Given the description of an element on the screen output the (x, y) to click on. 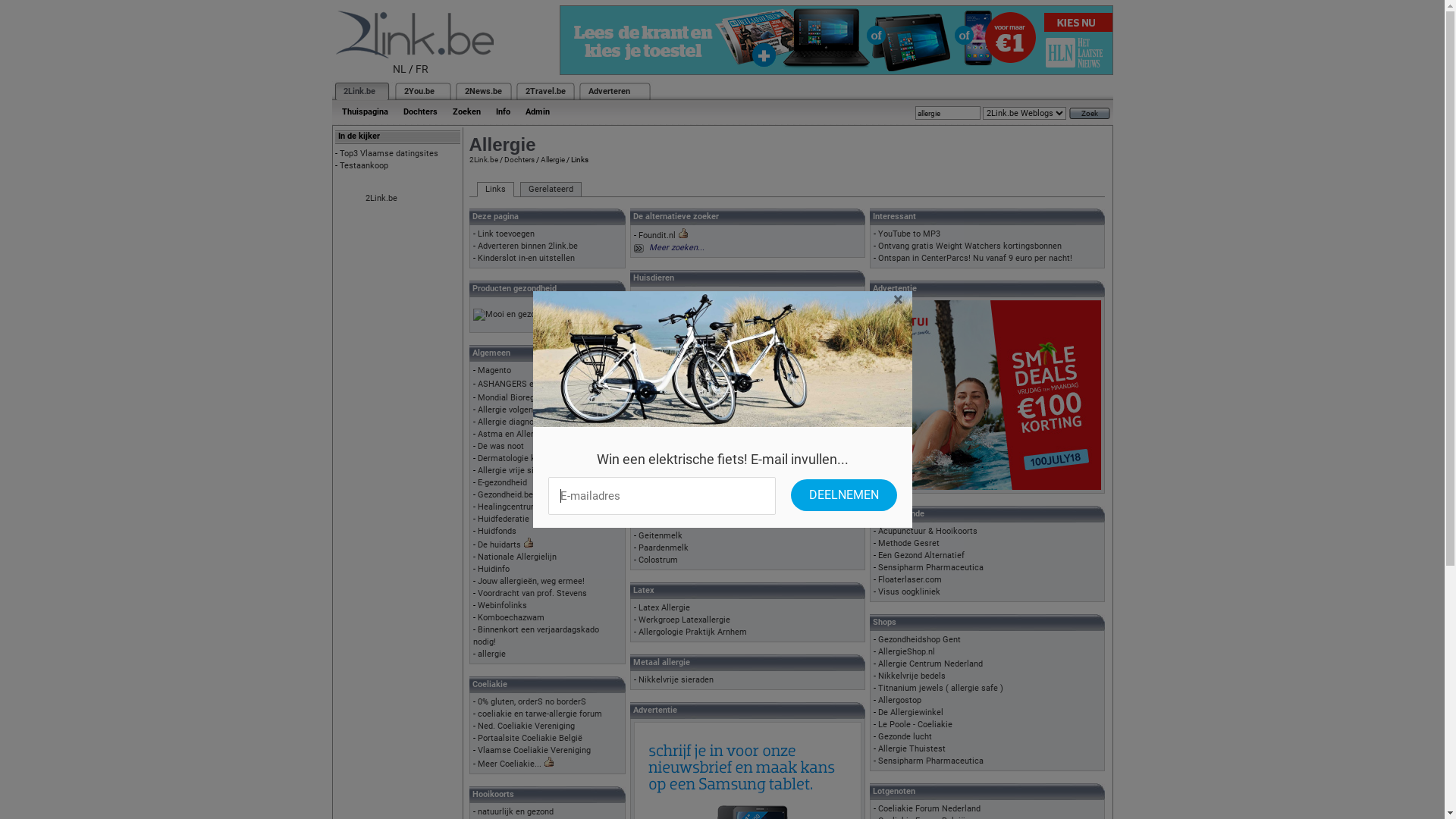
Huisstofmijt Element type: text (662, 379)
Bestrijding ongedierte Element type: text (679, 427)
Allergie Centrum Nederland Element type: text (930, 663)
Acupunctuur & Hooikoorts Element type: text (927, 531)
Allergie Element type: text (551, 159)
Huidfederatie Element type: text (503, 519)
FR Element type: text (421, 68)
Admin Element type: text (536, 111)
2Link.be Element type: text (482, 159)
2News.be Element type: text (482, 91)
Binnenkort een verjaardagskado nodig! Element type: text (536, 635)
Voordracht van prof. Stevens Element type: text (531, 593)
Sensipharm Pharmaceutica Element type: text (930, 760)
Allergologie Praktijk Arnhem Element type: text (692, 632)
Allergostop Element type: text (899, 700)
Nikkelvrije bedels Element type: text (911, 675)
Colostrum Element type: text (657, 559)
E-gezondheid Element type: text (502, 482)
Huisdierendokter Element type: text (670, 295)
De was noot Element type: text (500, 446)
Floaterlaser.com Element type: text (909, 579)
Methode Gesret Element type: text (908, 543)
Gezondheidshop Gent Element type: text (919, 639)
Zoeken Element type: text (465, 111)
Geitenmelk Element type: text (660, 535)
Latex Allergie Element type: text (664, 607)
Testaankoop Element type: text (363, 165)
Adverteren Element type: text (609, 91)
Meer Coeliakie... Element type: text (509, 763)
2You.be Element type: text (418, 91)
Allergie Thuistest Element type: text (911, 748)
Info Element type: text (502, 111)
Ontspan in CenterParcs! Nu vanaf 9 euro per nacht! Element type: text (975, 258)
Dochters Element type: text (518, 159)
2Link.be Element type: text (358, 91)
Nikkelvrije sieraden Element type: text (675, 679)
Nikkelvrije Zilveren hondjes Element type: text (690, 307)
Webinfolinks Element type: text (502, 605)
Meer zoeken... Element type: text (676, 247)
Gerelateerd Element type: text (550, 189)
De huidarts Element type: text (498, 544)
Ned. Coeliakie Vereniging Element type: text (525, 726)
0% gluten, orderS no borderS Element type: text (531, 701)
Dr. Patrick Sweetlove Element type: text (678, 367)
Komboechazwam Element type: text (510, 617)
Paardenmelk Element type: text (663, 547)
Werkgroep Latexallergie Element type: text (684, 619)
Vlaamse Coeliakie Vereniging Element type: text (533, 750)
Magento Element type: text (494, 370)
Gezondheid.be Element type: text (505, 494)
2Travel.be Element type: text (544, 91)
YouTube to MP3 Element type: text (909, 233)
De Allergiewinkel Element type: text (910, 712)
Le Poole - Coeliakie Element type: text (915, 724)
AllergieShop.nl Element type: text (906, 651)
Top3 Vlaamse datingsites Element type: text (388, 153)
Link toevoegen Element type: text (505, 233)
Allergie diagnostiek Element type: text (514, 421)
Een Gezond Alternatief Element type: text (921, 555)
Kinderslot in-en uitstellen Element type: text (525, 258)
Visus oogkliniek Element type: text (909, 591)
natuurlijk en gezond Element type: text (515, 811)
Allergologie Jansen Element type: text (675, 475)
ASHANGERS en ASBEDELS Element type: text (528, 384)
Links Element type: text (494, 189)
Babyallergie Element type: text (661, 523)
Allergie vrije sieraden Element type: text (518, 470)
NL Element type: text (399, 68)
Allergie voor huisstofmijt Element type: text (686, 355)
Mondial Bioregulator Element type: text (516, 397)
Gezonde lucht Element type: text (904, 736)
Astma en Allergie Koepel Element type: text (525, 434)
Huidfonds Element type: text (496, 531)
Allergie volgens Wikipedia Element type: text (527, 409)
Foundit.nl Element type: text (656, 235)
Dochters Element type: text (420, 111)
allergie Element type: text (491, 653)
2Link.be Element type: text (381, 198)
coeliakie en tarwe-allergie forum Element type: text (539, 713)
Zoek Element type: text (1089, 113)
Sensipharm Pharmaceutica Element type: text (930, 567)
Bij en bites Element type: text (659, 463)
Gestoken.nl Element type: text (661, 439)
Titnanium jewels ( allergie safe ) Element type: text (940, 688)
Huidinfo Element type: text (493, 569)
Ontvang gratis Weight Watchers kortingsbonnen Element type: text (969, 246)
Healingcentrum De Gids Element type: text (523, 506)
Dermatologie kliniek Antwerpen Element type: text (537, 458)
Thuispagina Element type: text (364, 111)
Immuun voor wespensteken Element type: text (691, 451)
Adverteren binnen 2link.be Element type: text (527, 246)
Coeliakie Forum Nederland Element type: text (929, 808)
Nationale Allergielijn Element type: text (516, 556)
